Given the description of an element on the screen output the (x, y) to click on. 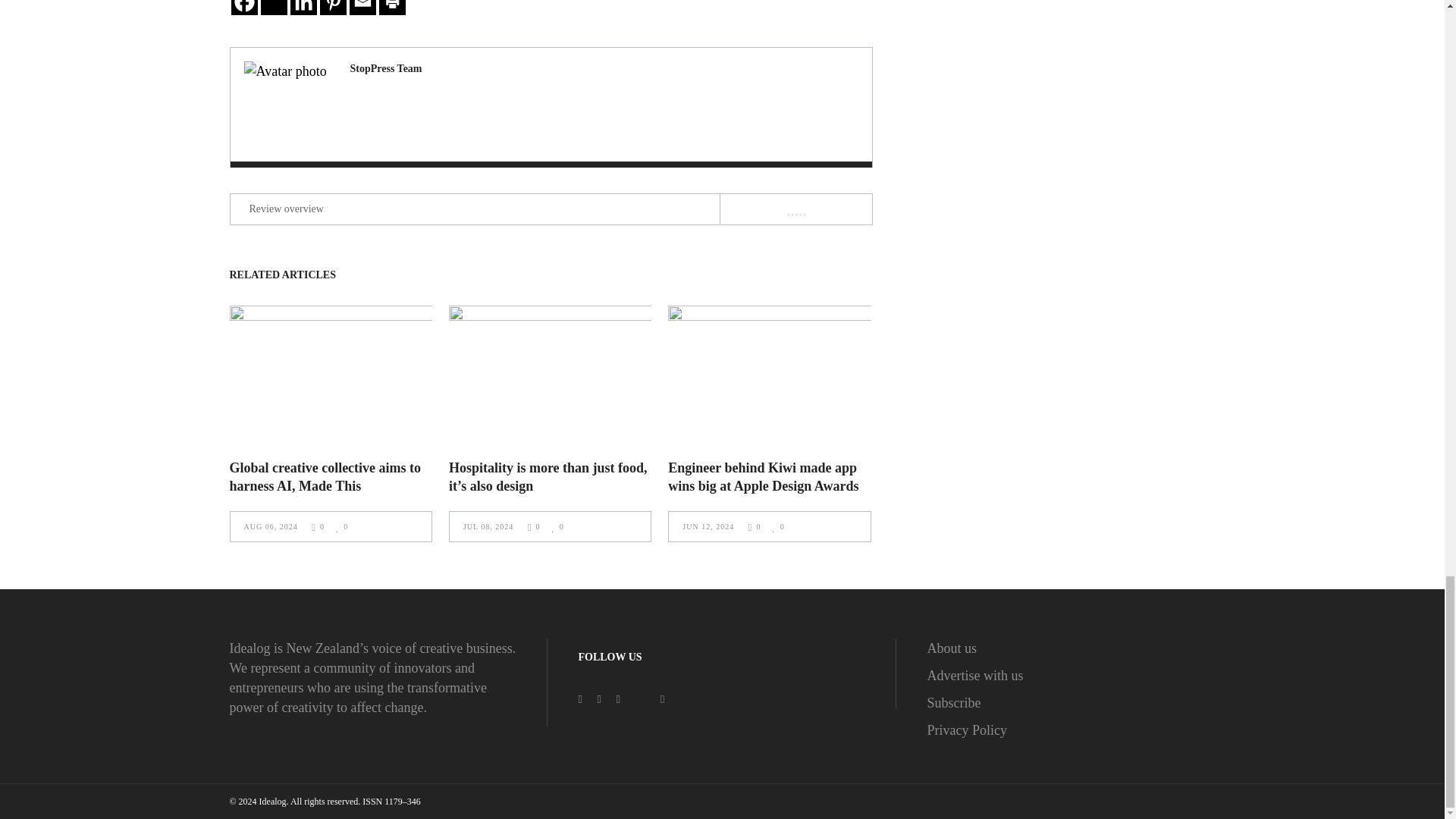
Twitter (273, 7)
Facebook (243, 7)
Ladyhawke artist collaborates with Whitecliff (386, 68)
Linkedin (302, 7)
Ladyhawke artist collaborates with Whitecliff (287, 104)
Global creative collective aims to harness AI, Made This (324, 476)
Pinterest (333, 7)
Email (362, 7)
